Given the description of an element on the screen output the (x, y) to click on. 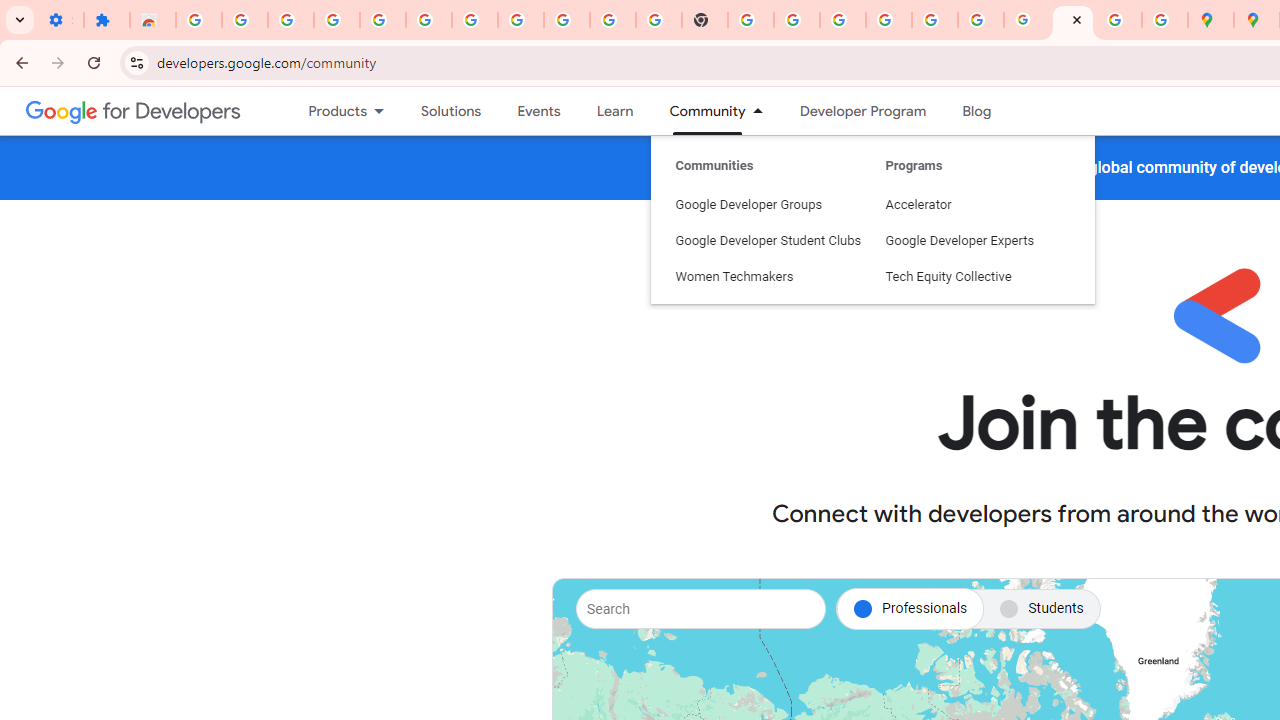
Developer Program (862, 111)
Dropdown menu for Community (763, 111)
Google Developer Student Clubs (767, 147)
Women Techmakers (767, 183)
Delete photos & videos - Computer - Google Photos Help (336, 20)
Settings - On startup (60, 20)
Products (329, 111)
Community, selected (698, 111)
